Given the description of an element on the screen output the (x, y) to click on. 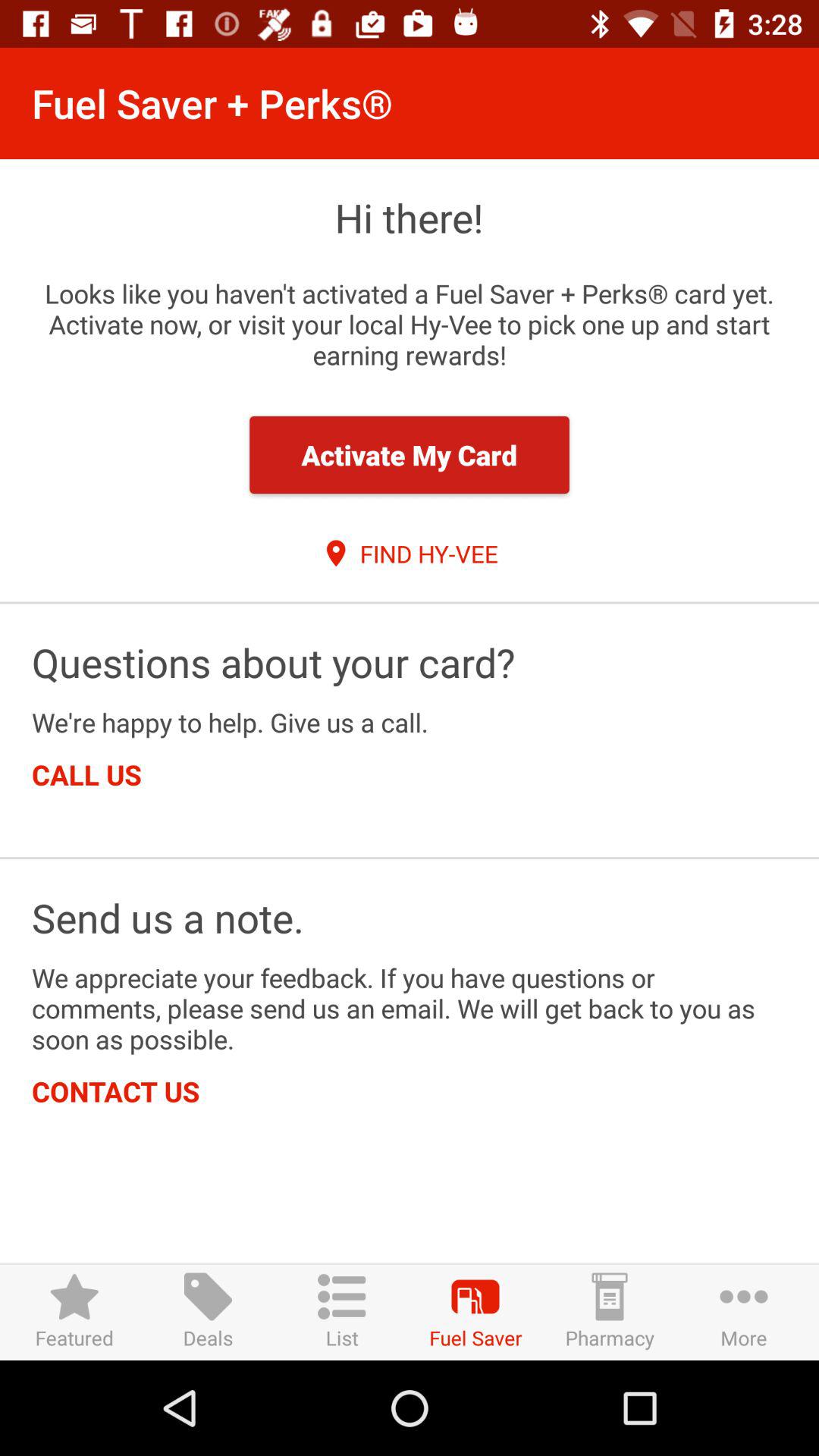
choose the icon next to fuel saver item (609, 1311)
